Given the description of an element on the screen output the (x, y) to click on. 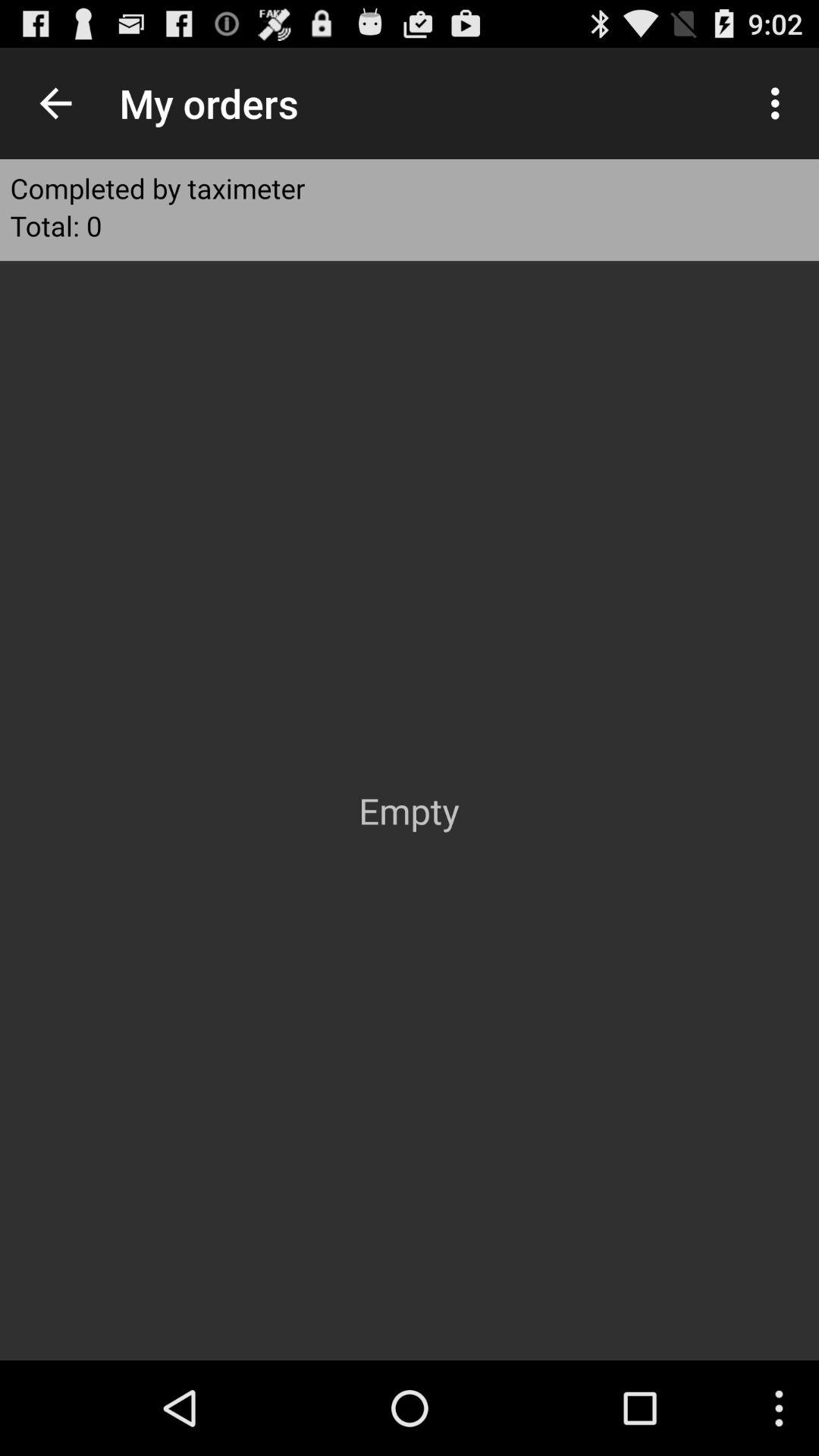
choose item at the top right corner (779, 103)
